Given the description of an element on the screen output the (x, y) to click on. 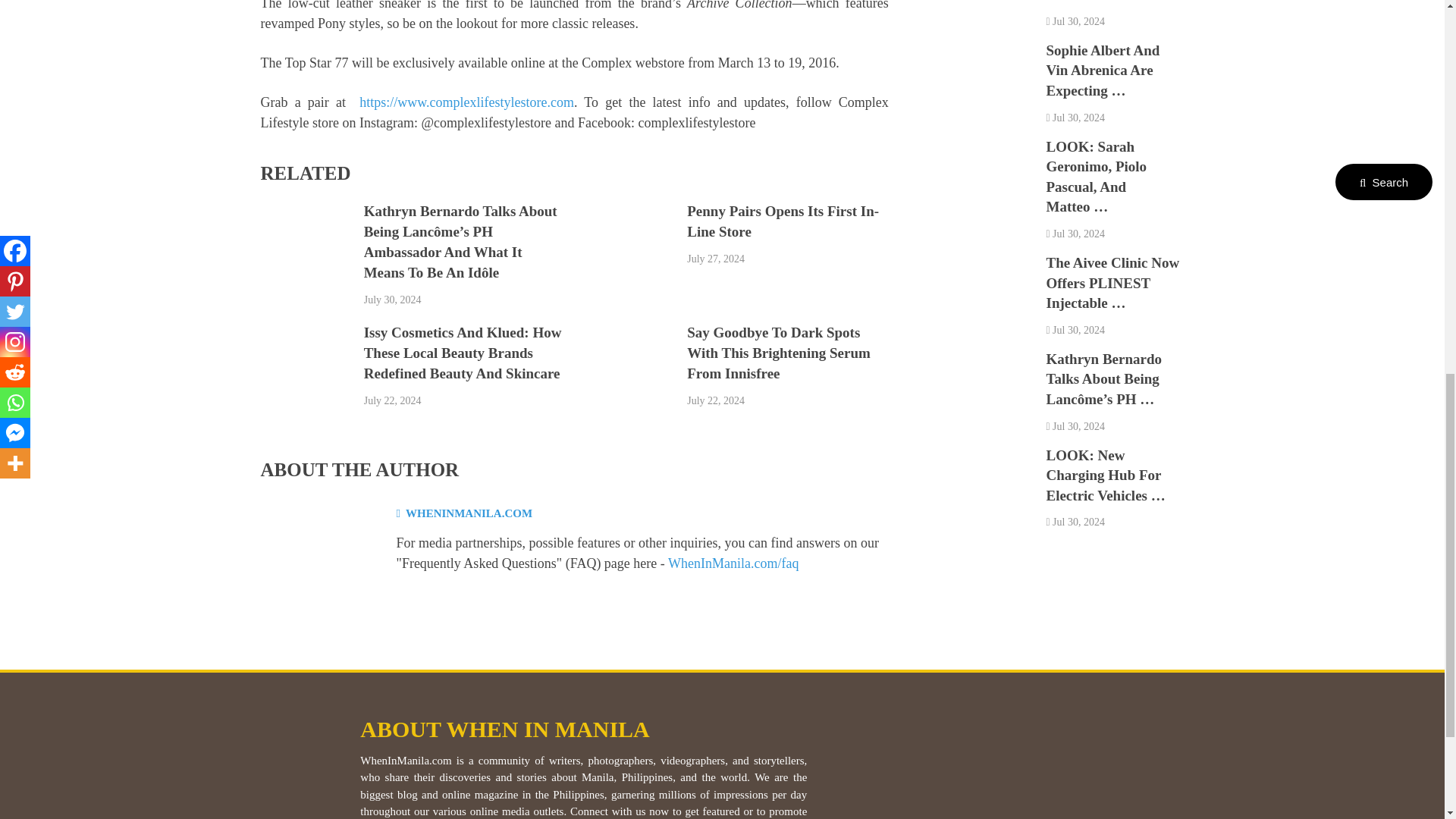
Penny Pairs Opens Its First In-Line Store (783, 221)
Penny Pairs Opens Its First In-Line Store 3 (627, 249)
